Given the description of an element on the screen output the (x, y) to click on. 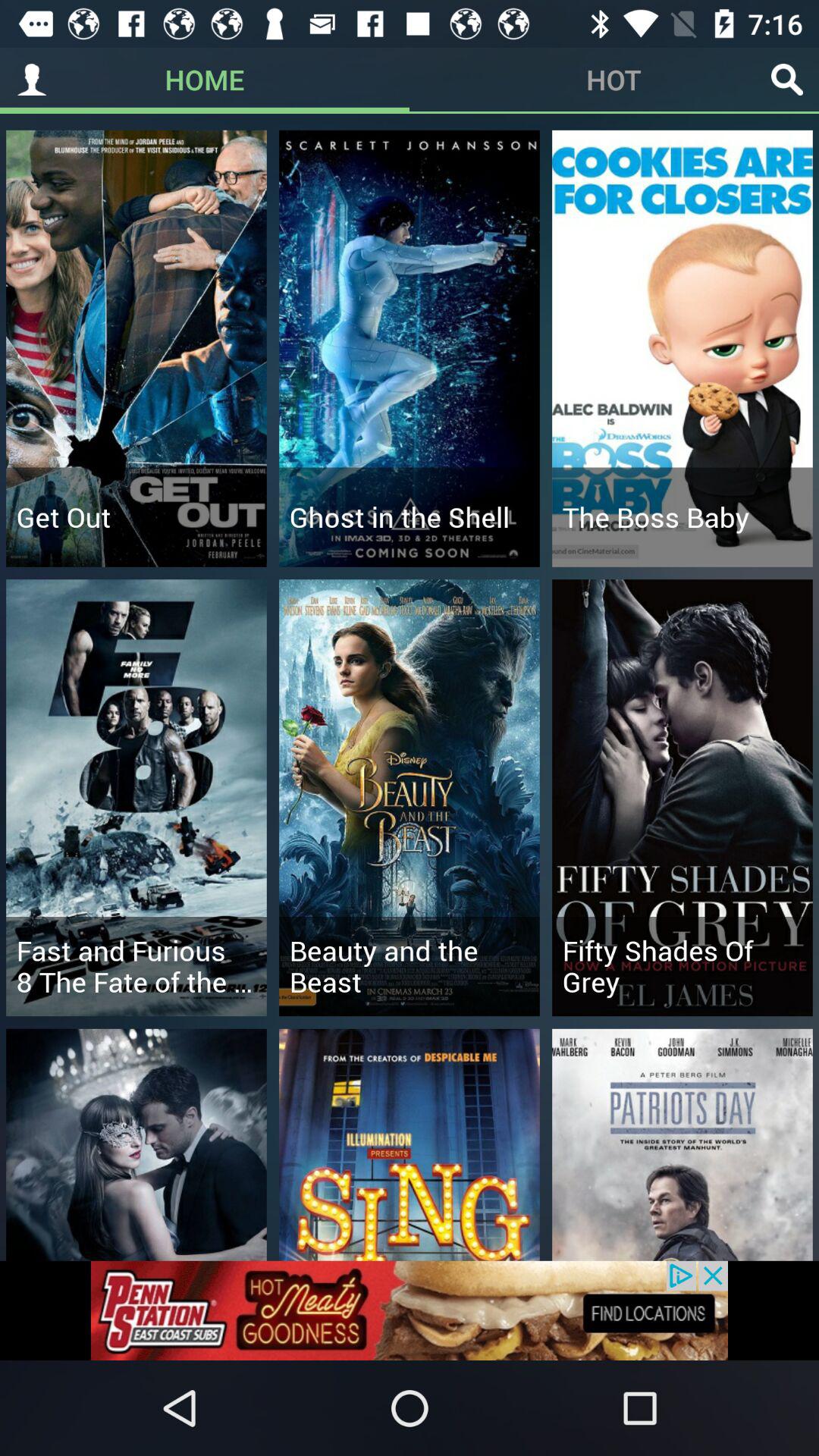
select the first image below home (135, 349)
go to the third option in first row (682, 349)
select the image which consists of the text sing (409, 1144)
